Given the description of an element on the screen output the (x, y) to click on. 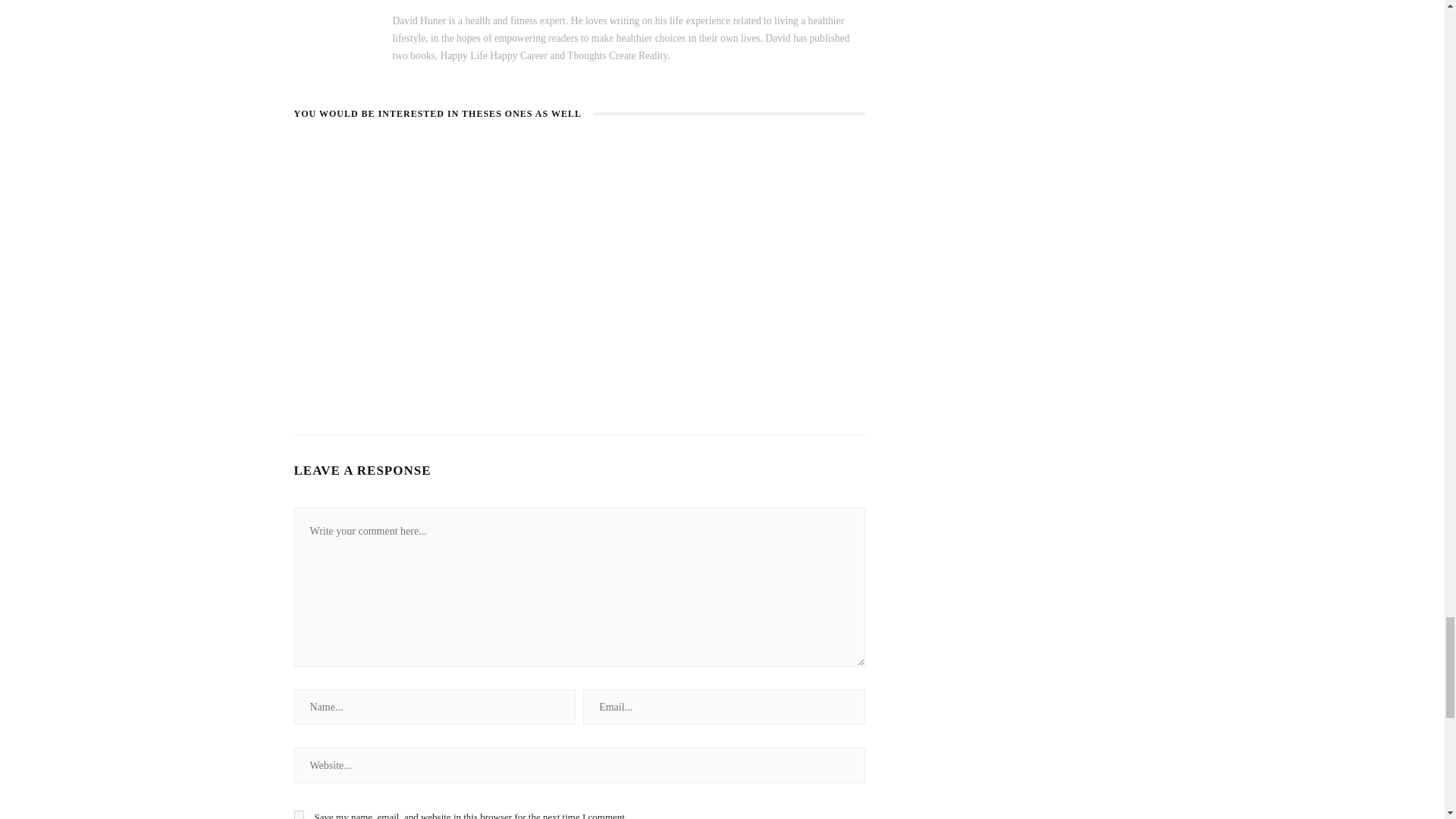
yes (299, 814)
